Given the description of an element on the screen output the (x, y) to click on. 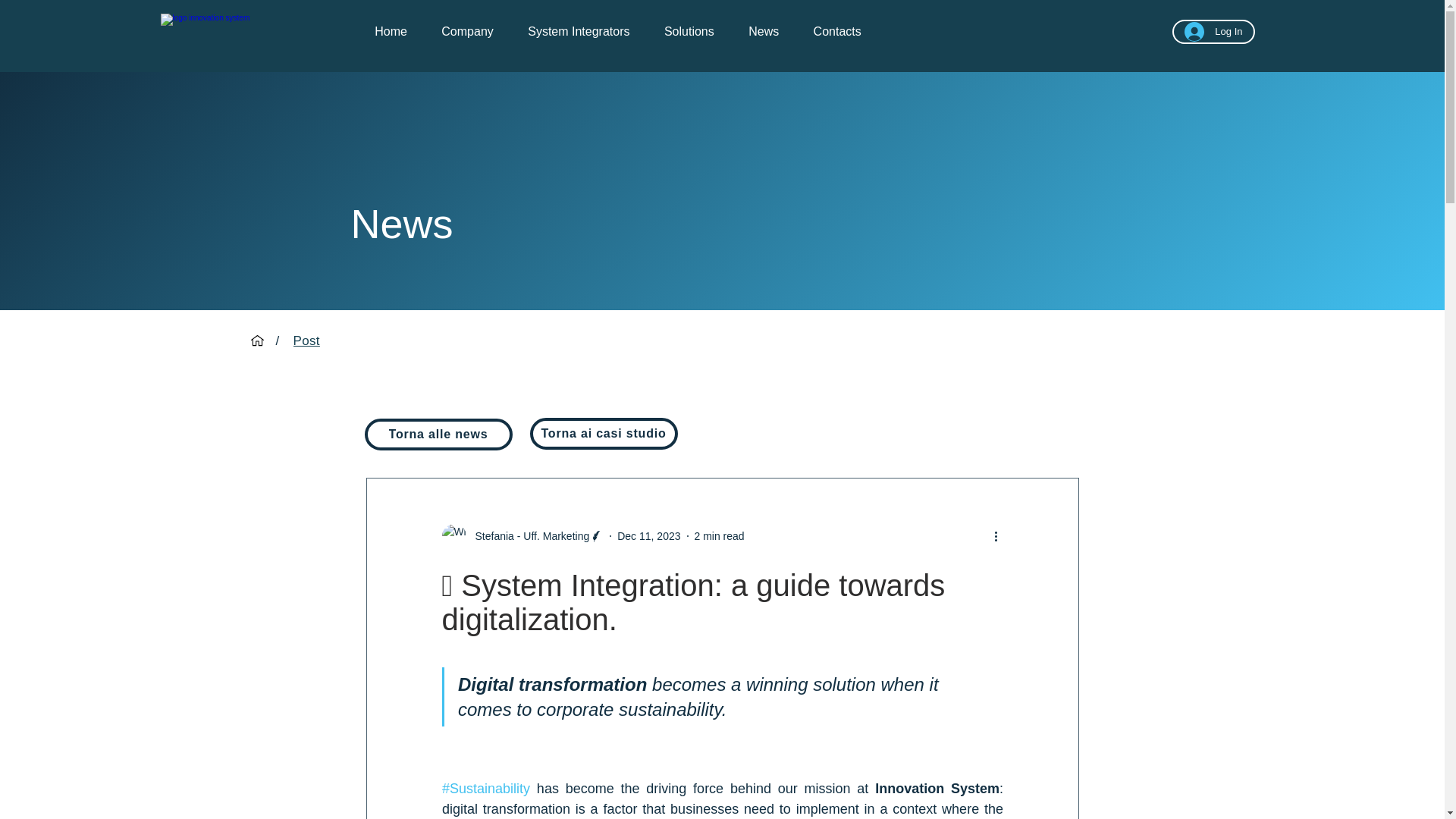
Stefania - Uff. Marketing (527, 535)
Contacts (837, 32)
Dec 11, 2023 (648, 535)
Torna ai casi studio (603, 433)
Home (391, 32)
System Integrators (579, 32)
Torna alle news (438, 434)
Post (306, 340)
News (762, 32)
Stefania - Uff. Marketing (522, 535)
